Given the description of an element on the screen output the (x, y) to click on. 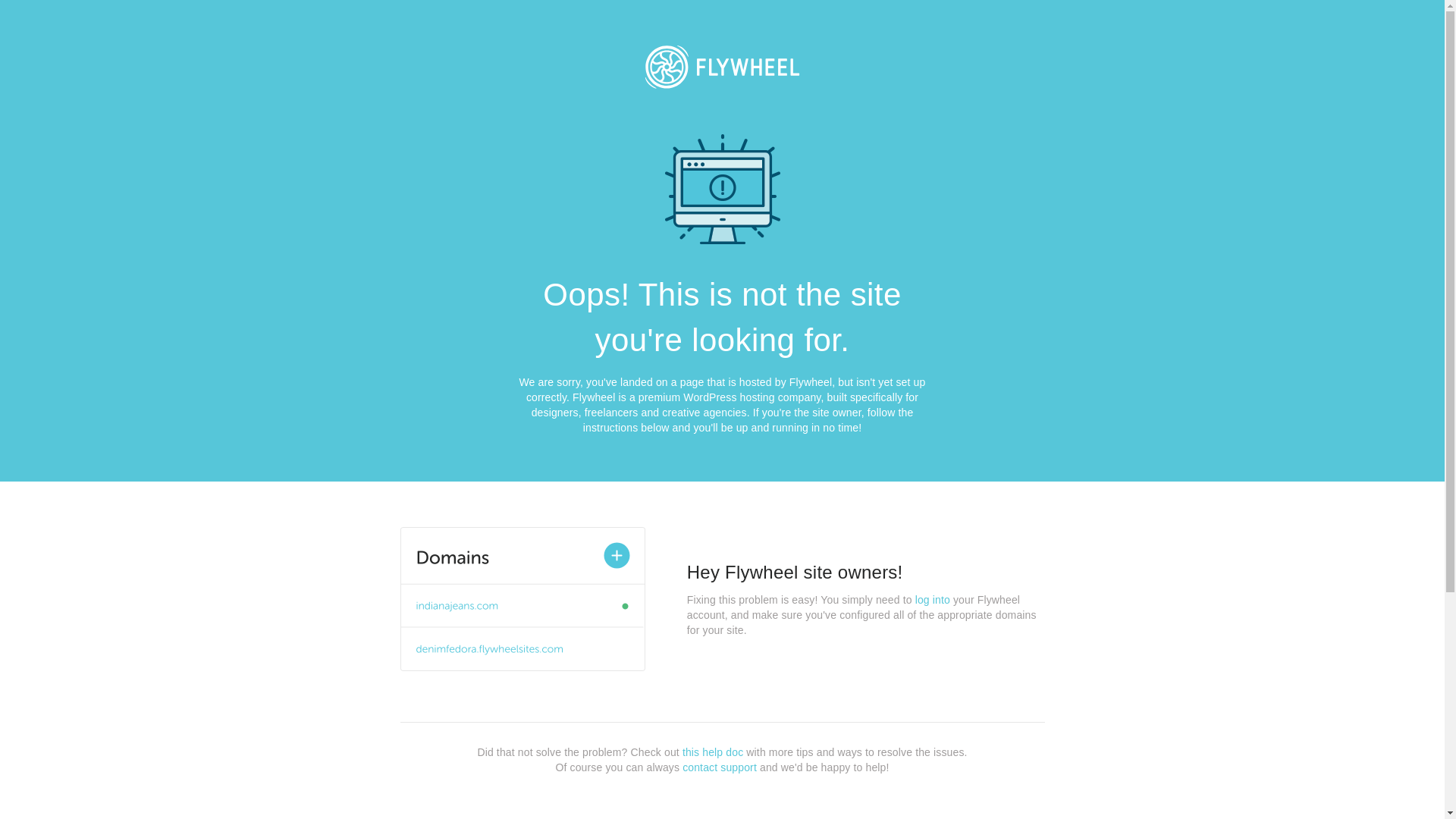
log into (932, 599)
this help doc (712, 752)
contact support (719, 767)
